Given the description of an element on the screen output the (x, y) to click on. 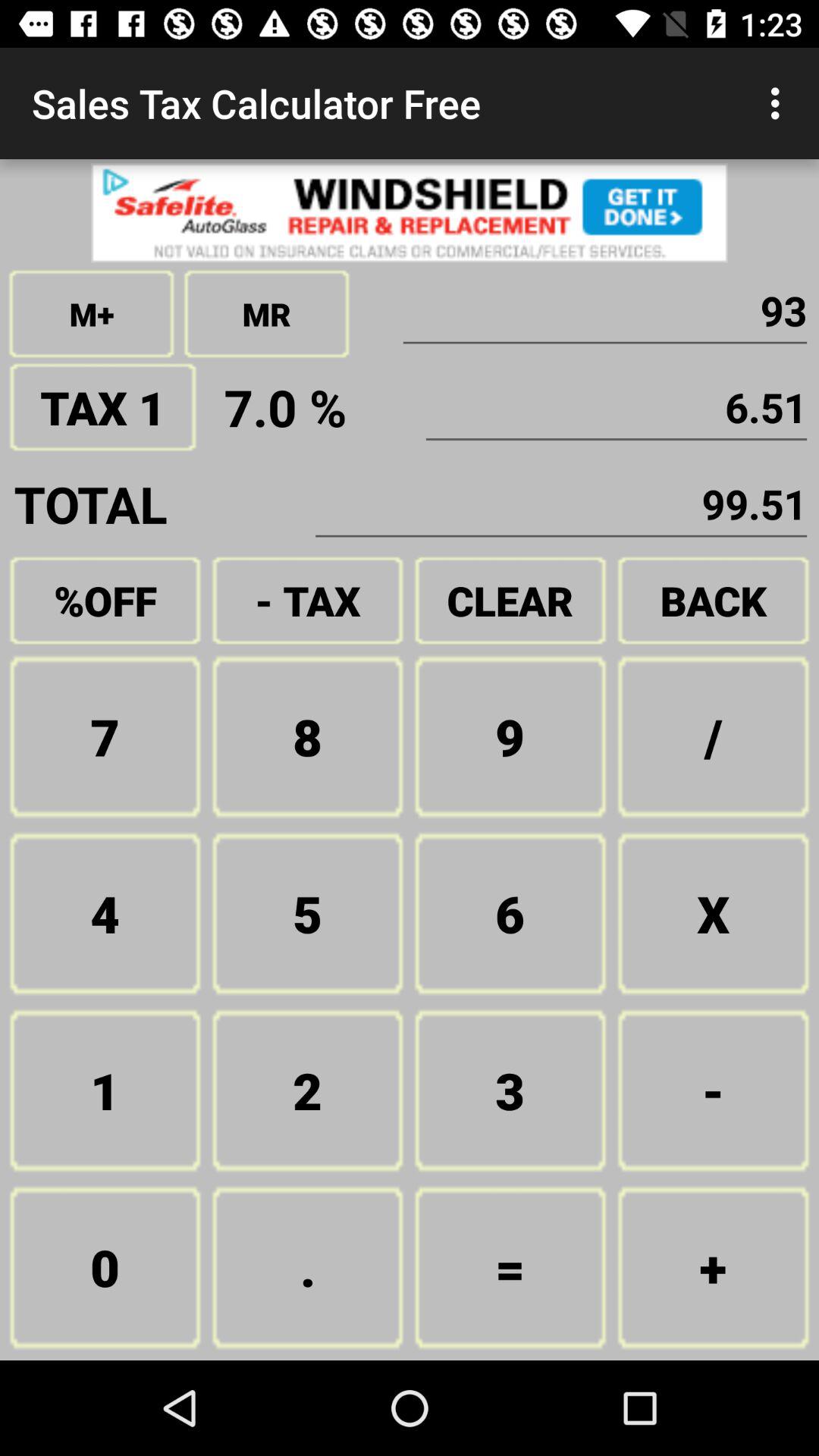
view advertisement (409, 212)
